Given the description of an element on the screen output the (x, y) to click on. 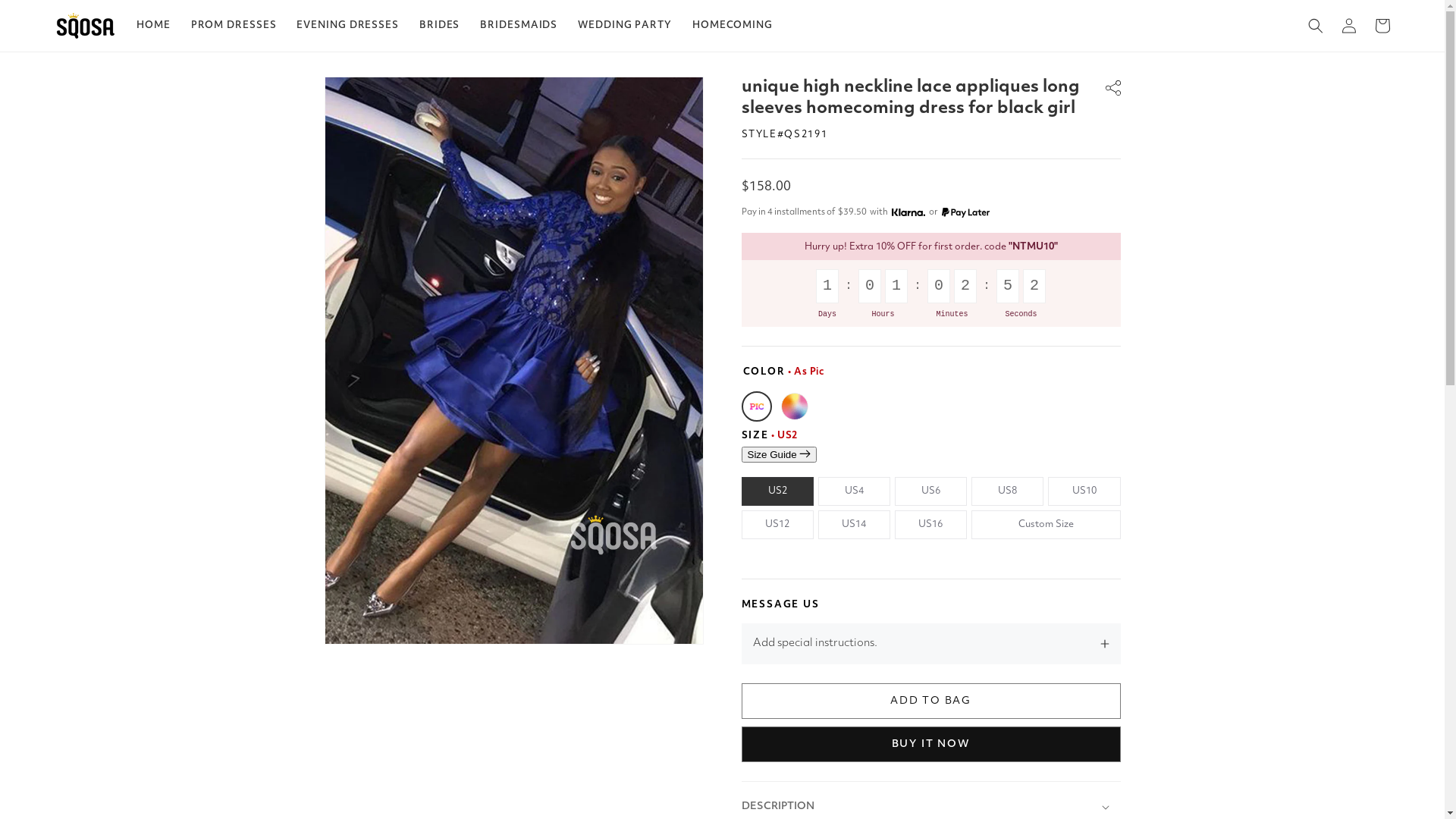
Cart Element type: text (1381, 25)
Size Guide Element type: text (779, 453)
EVENING DRESSES Element type: text (347, 25)
HOME Element type: text (153, 25)
Log in Element type: text (1348, 25)
BRIDESMAIDS Element type: text (518, 25)
ADD TO BAG Element type: text (930, 700)
Skip to product information Element type: text (369, 93)
BUY IT NOW Element type: text (930, 744)
